Given the description of an element on the screen output the (x, y) to click on. 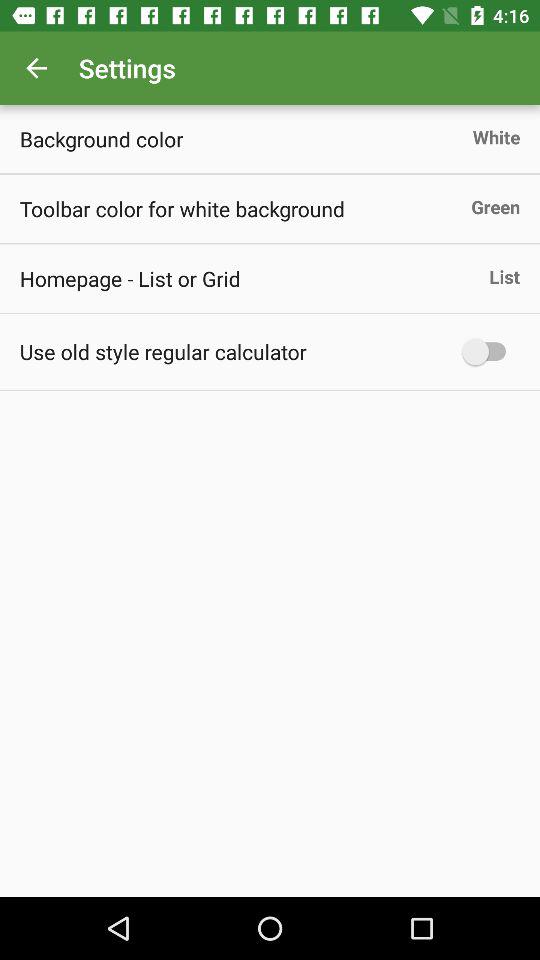
turn on the item below the list item (488, 351)
